Given the description of an element on the screen output the (x, y) to click on. 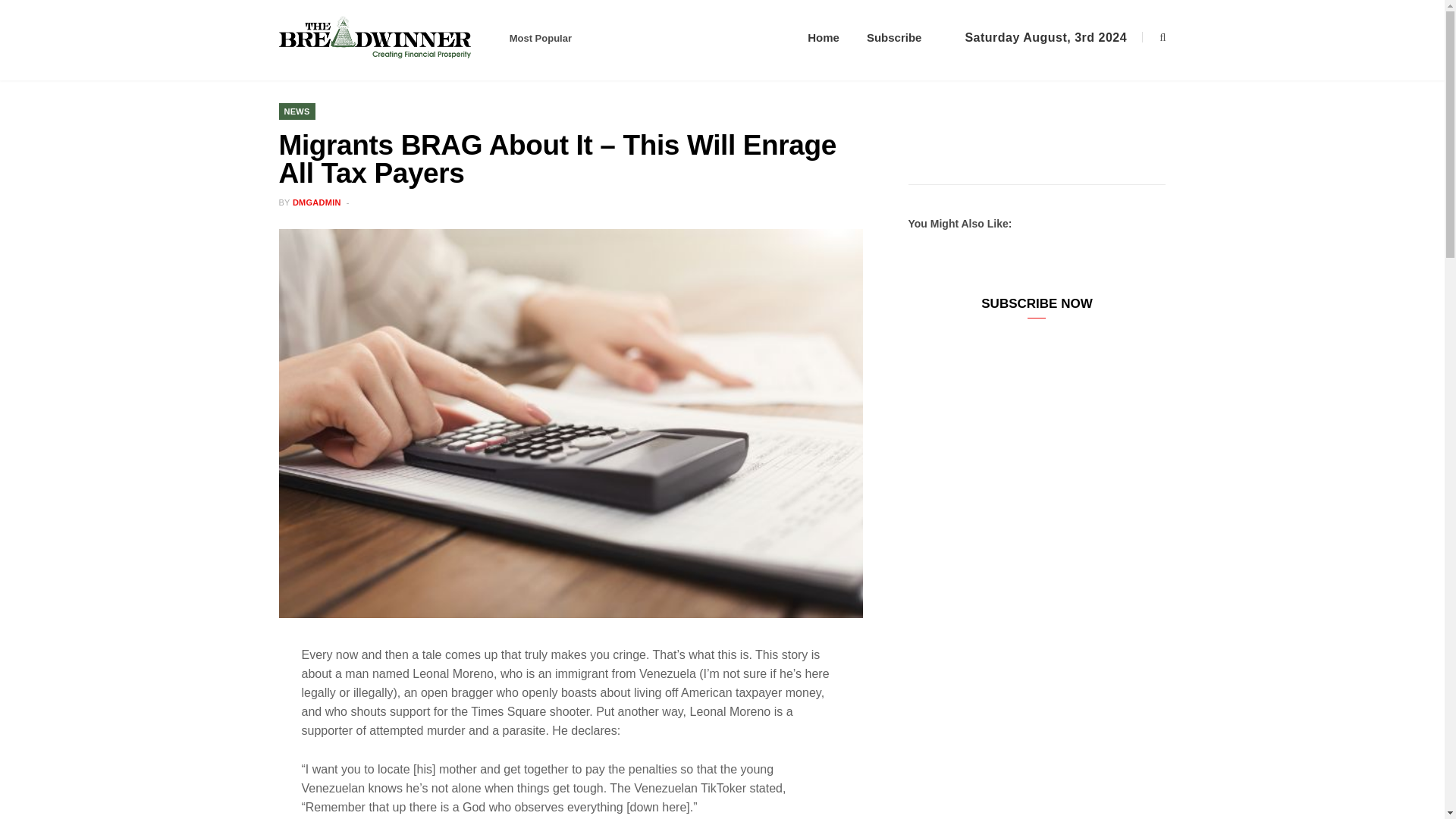
Subscribe (894, 38)
DMGADMIN (316, 202)
NEWS (297, 111)
Search (1153, 37)
The Breadwinner (392, 37)
Posts by dmgadmin (316, 202)
